Given the description of an element on the screen output the (x, y) to click on. 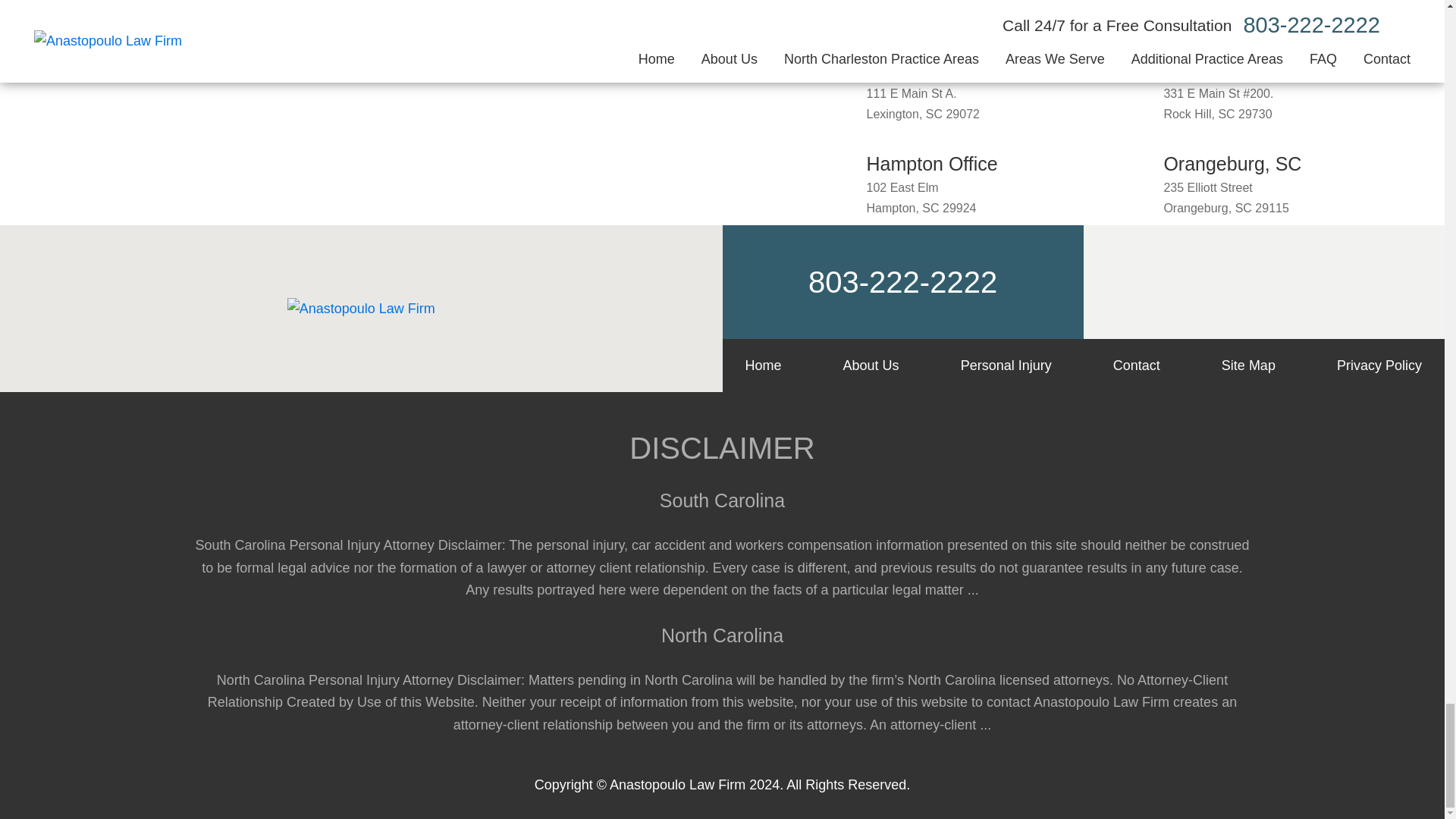
Linkedin (1314, 282)
map (839, 161)
linkedin (1314, 282)
map (1136, 67)
Anastopoulo Law Firm (361, 308)
Anastopoulo Law Firm (360, 309)
Avvo (1262, 281)
Facebook (1212, 282)
facebook (1212, 282)
map (839, 67)
